Given the description of an element on the screen output the (x, y) to click on. 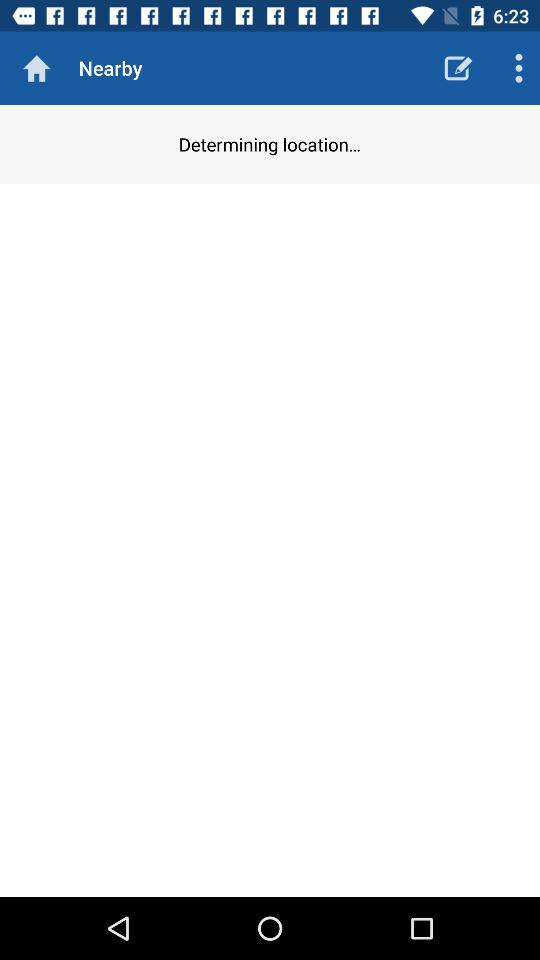
click the icon next to nearby (36, 68)
